Given the description of an element on the screen output the (x, y) to click on. 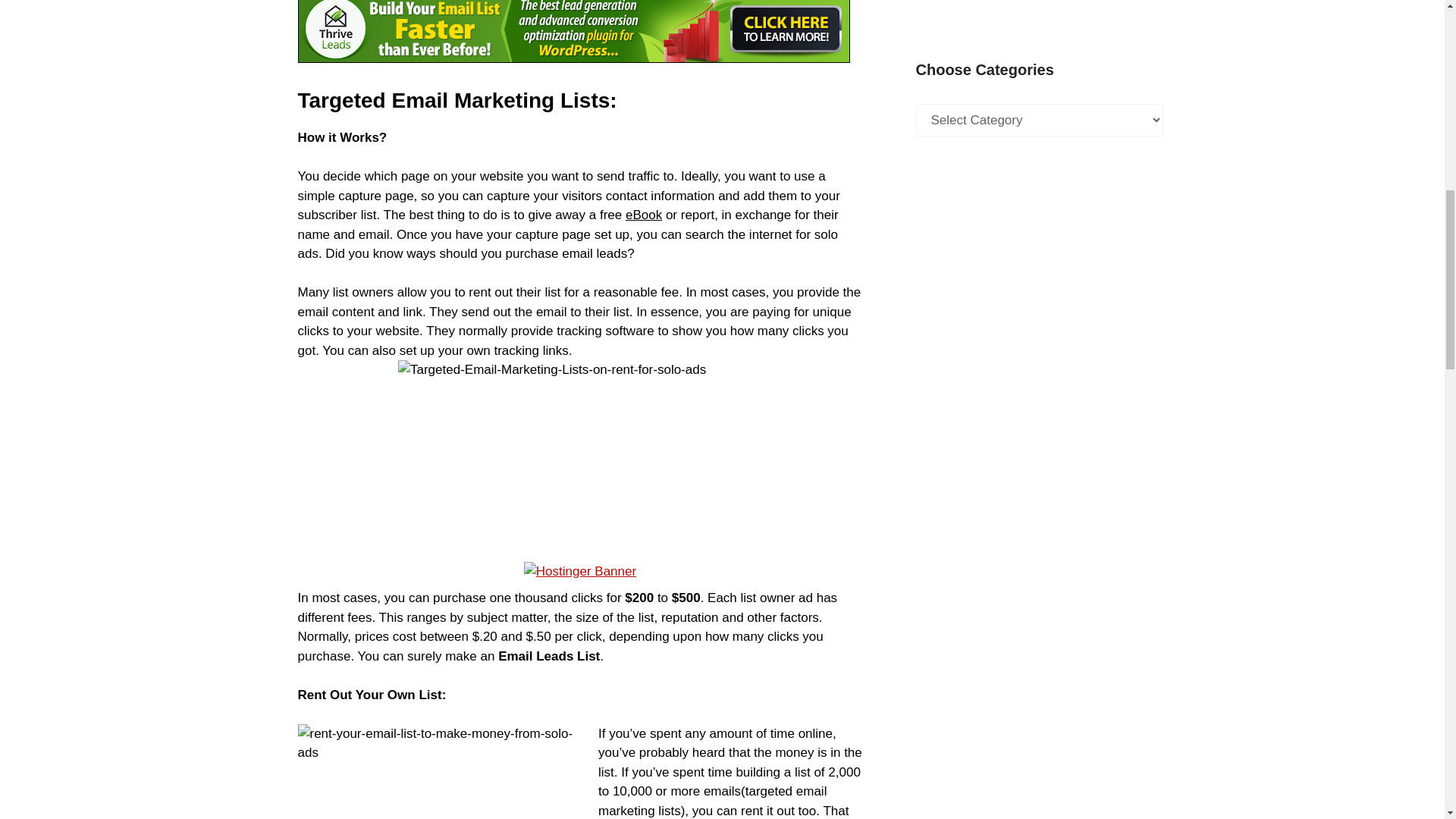
Hostinger (580, 571)
